Given the description of an element on the screen output the (x, y) to click on. 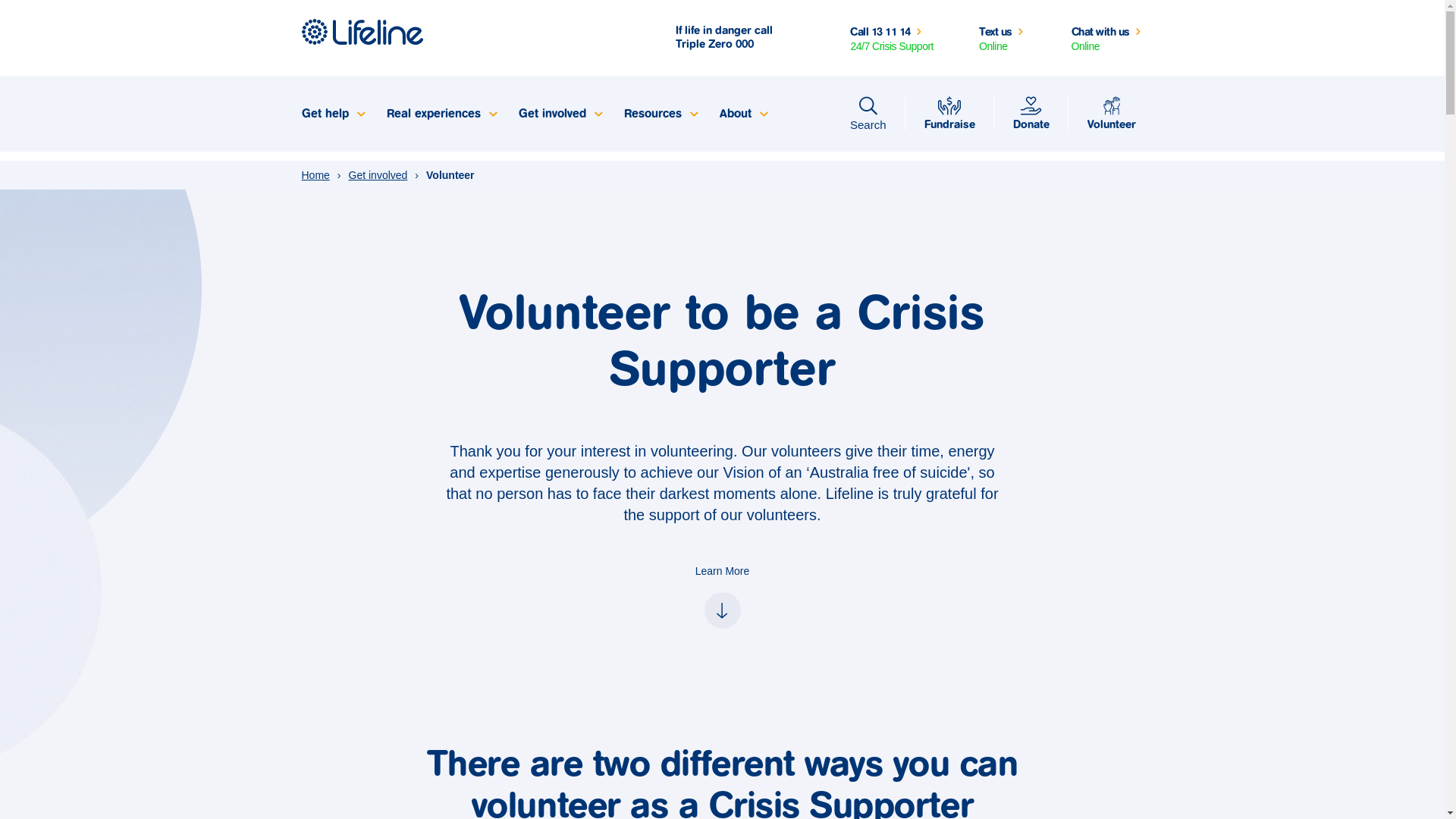
Real experiences Element type: text (440, 113)
Text us
Online Element type: text (1002, 38)
Fundraise Element type: text (949, 113)
Call 13 11 14
24/7 Crisis Support Element type: text (891, 38)
Get help Element type: text (331, 113)
Learn More Element type: text (721, 594)
Resources Element type: text (660, 113)
Chat with us
Online Element type: text (1106, 38)
Search Element type: text (868, 113)
Donate Element type: text (1030, 113)
000 Element type: text (744, 44)
About Element type: text (743, 113)
Get involved Element type: text (558, 113)
Home Element type: text (315, 174)
Volunteer Element type: text (1110, 113)
Get involved Element type: text (377, 174)
